Given the description of an element on the screen output the (x, y) to click on. 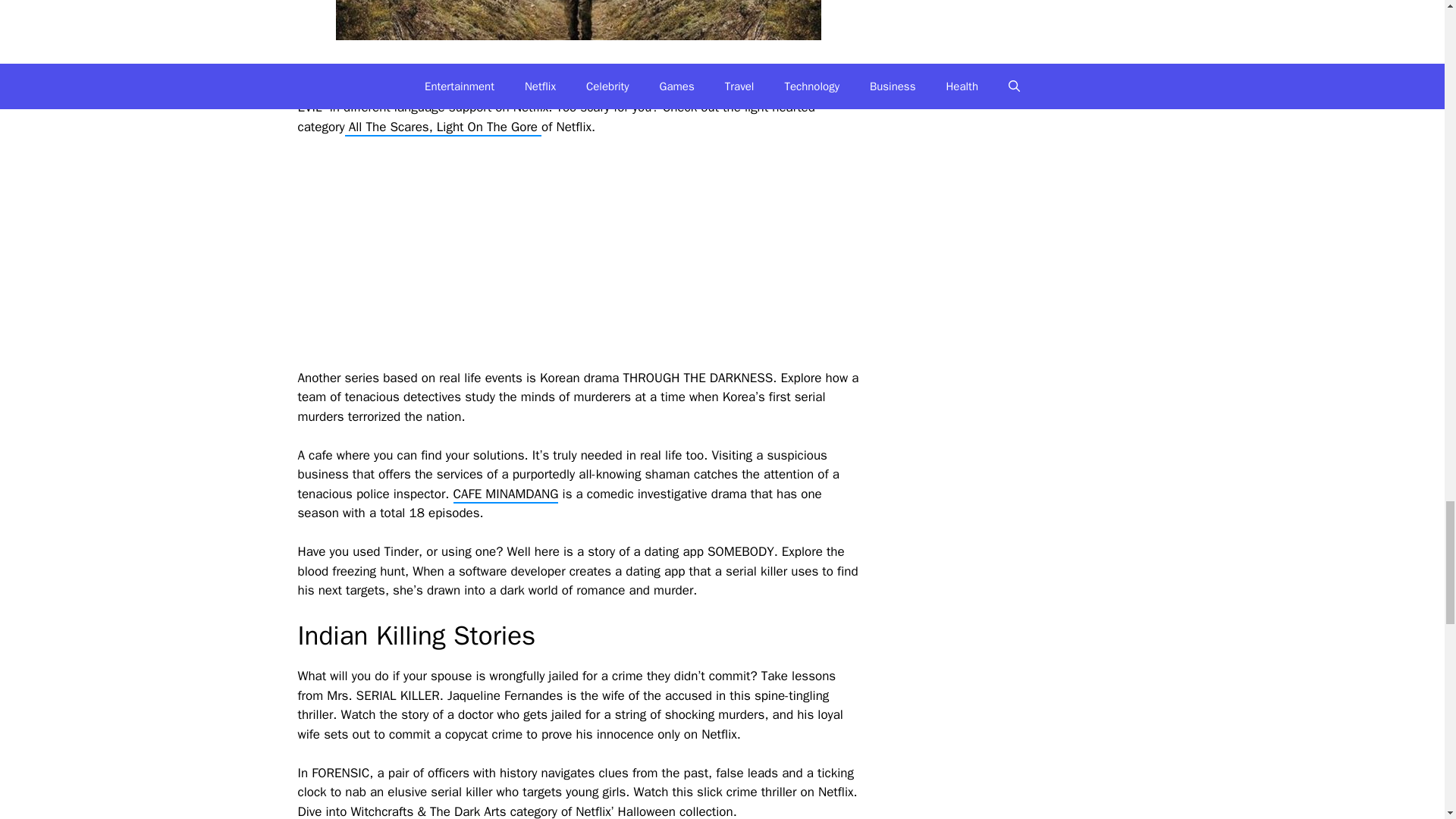
All The Scares, Light On The Gore (443, 127)
CAFE MINAMDANG (505, 494)
